Given the description of an element on the screen output the (x, y) to click on. 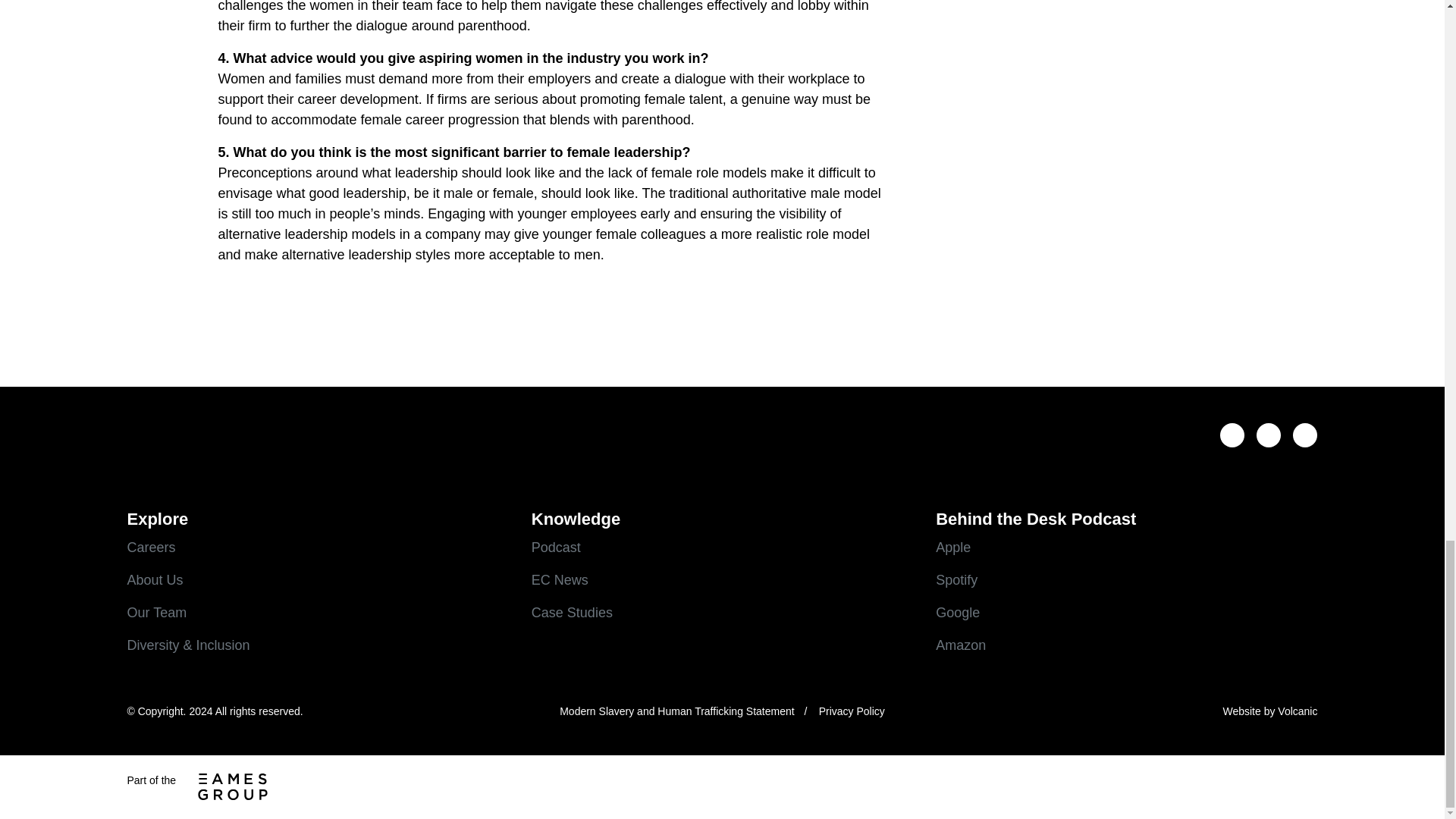
Our Team (318, 611)
Careers (318, 547)
EC News (721, 580)
Podcast (721, 547)
About Us (318, 580)
